Given the description of an element on the screen output the (x, y) to click on. 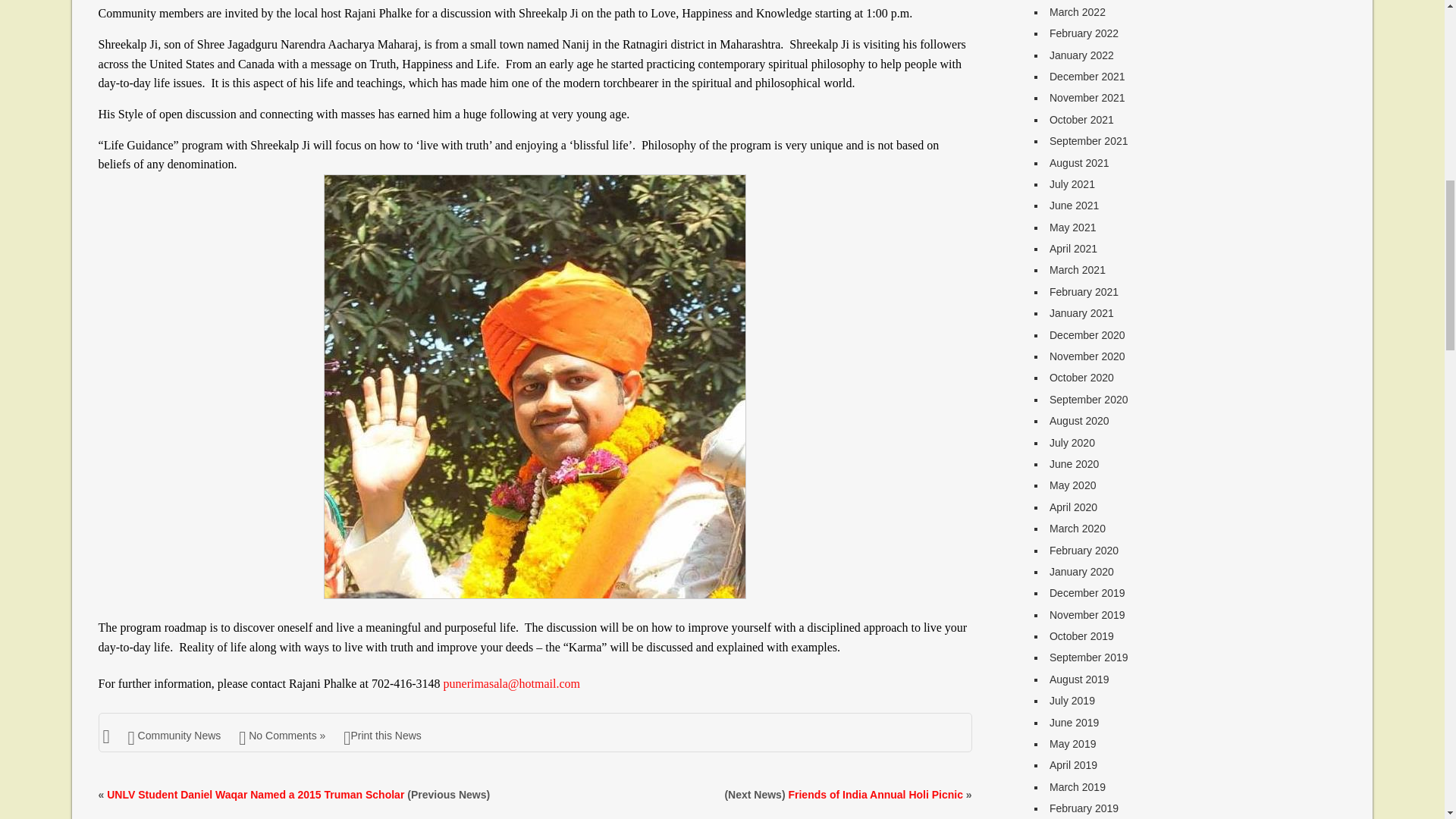
UNLV Student Daniel Waqar Named a 2015 Truman Scholar (255, 794)
Community News (179, 735)
Print this News (382, 735)
Friends of India Annual Holi Picnic (874, 794)
